Given the description of an element on the screen output the (x, y) to click on. 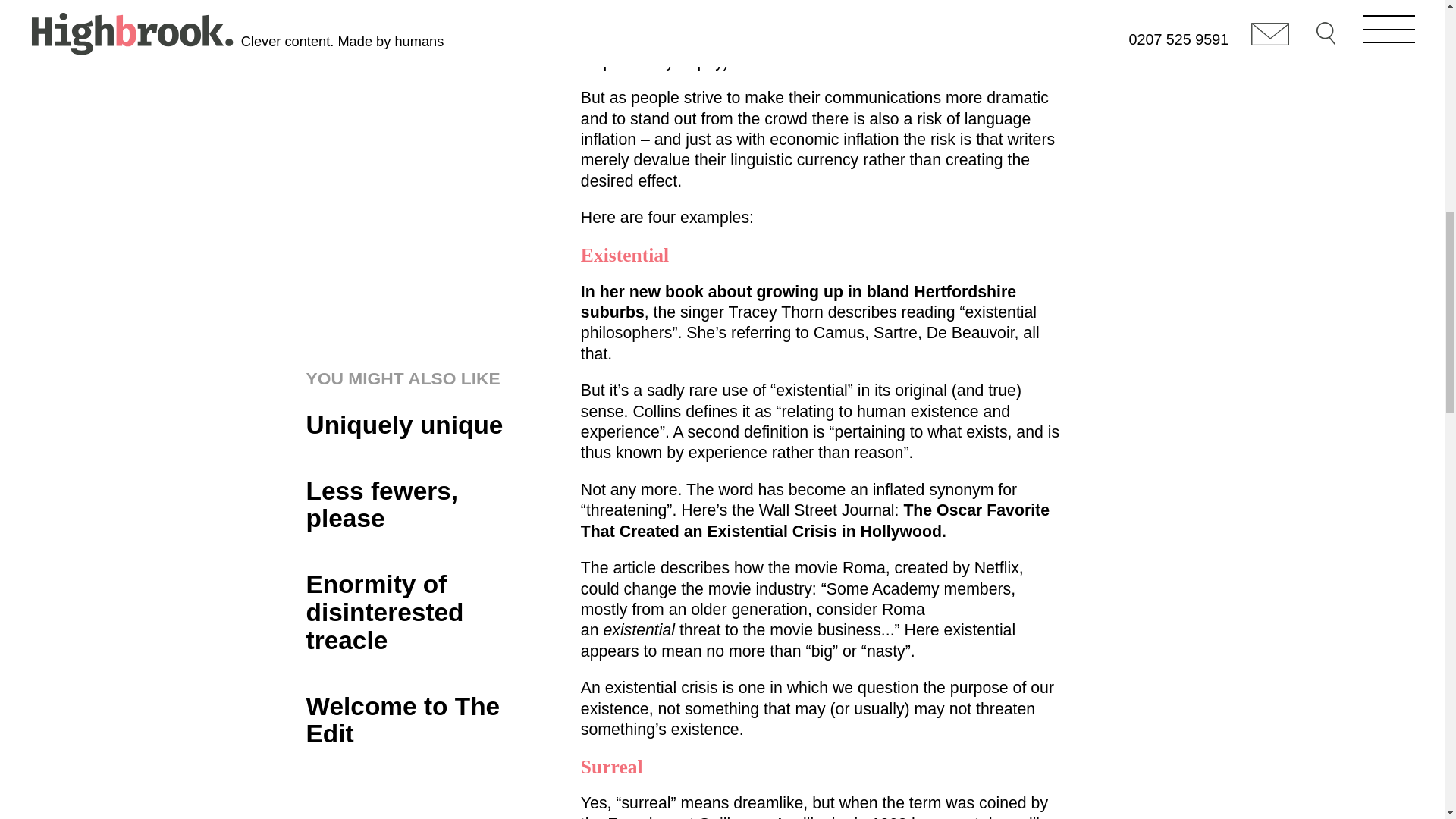
Less fewers, please (421, 505)
Less fewers, please (421, 505)
find out more about Michael Pilgrim (386, 17)
Enormity of disinterested treacle (421, 612)
Uniquely unique (421, 425)
Uniquely unique (421, 425)
Welcome to The Edit (421, 720)
Michael Pilgrim (386, 17)
Welcome to The Edit (421, 720)
